Given the description of an element on the screen output the (x, y) to click on. 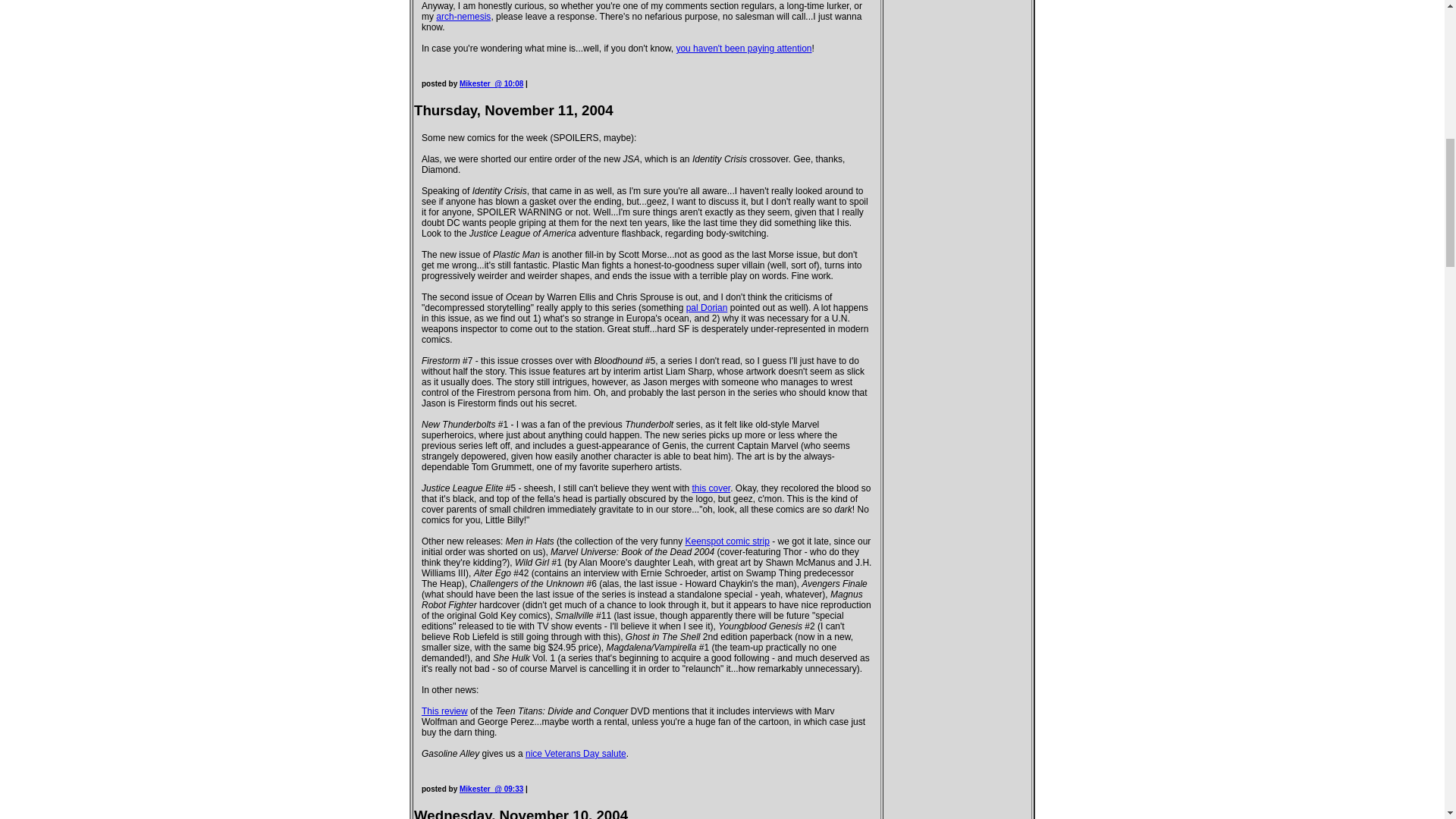
This review (444, 710)
pal Dorian (706, 307)
you haven't been paying attention (742, 48)
permanent link (491, 788)
nice Veterans Day salute (575, 753)
this cover (710, 488)
arch-nemesis (462, 16)
permanent link (491, 83)
Keenspot comic strip (727, 541)
